Given the description of an element on the screen output the (x, y) to click on. 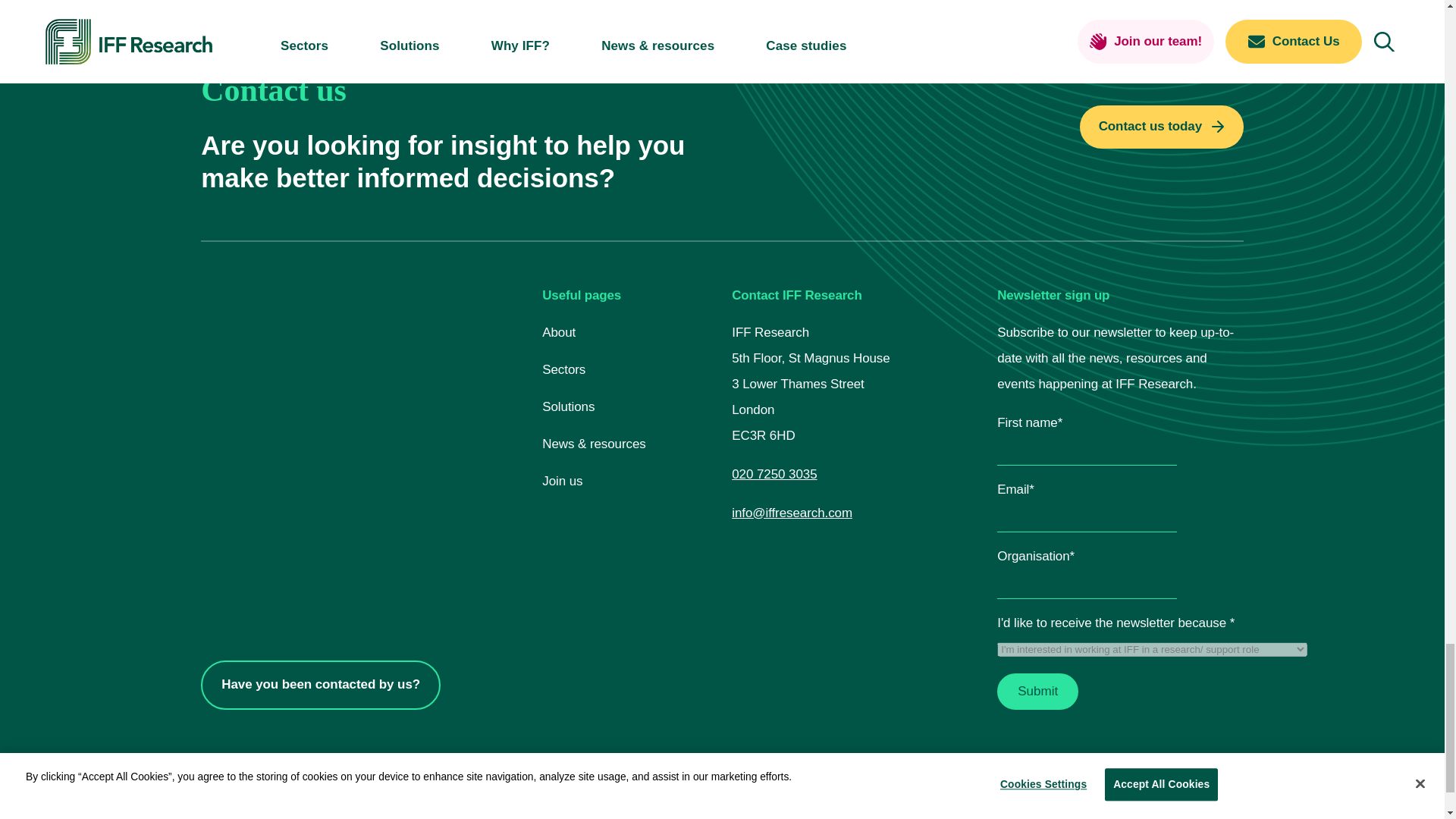
Start your project (1161, 126)
Submit (1037, 691)
